Given the description of an element on the screen output the (x, y) to click on. 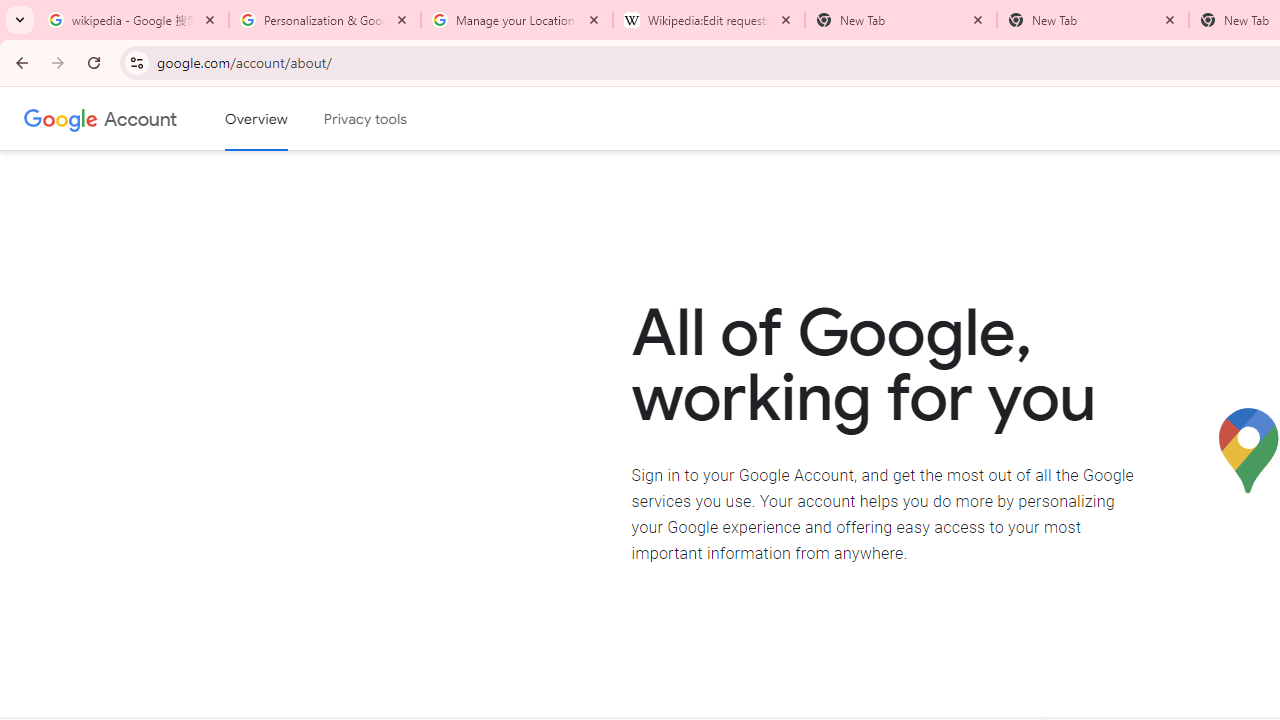
Google Account (140, 118)
Google logo (61, 118)
New Tab (1093, 20)
